Given the description of an element on the screen output the (x, y) to click on. 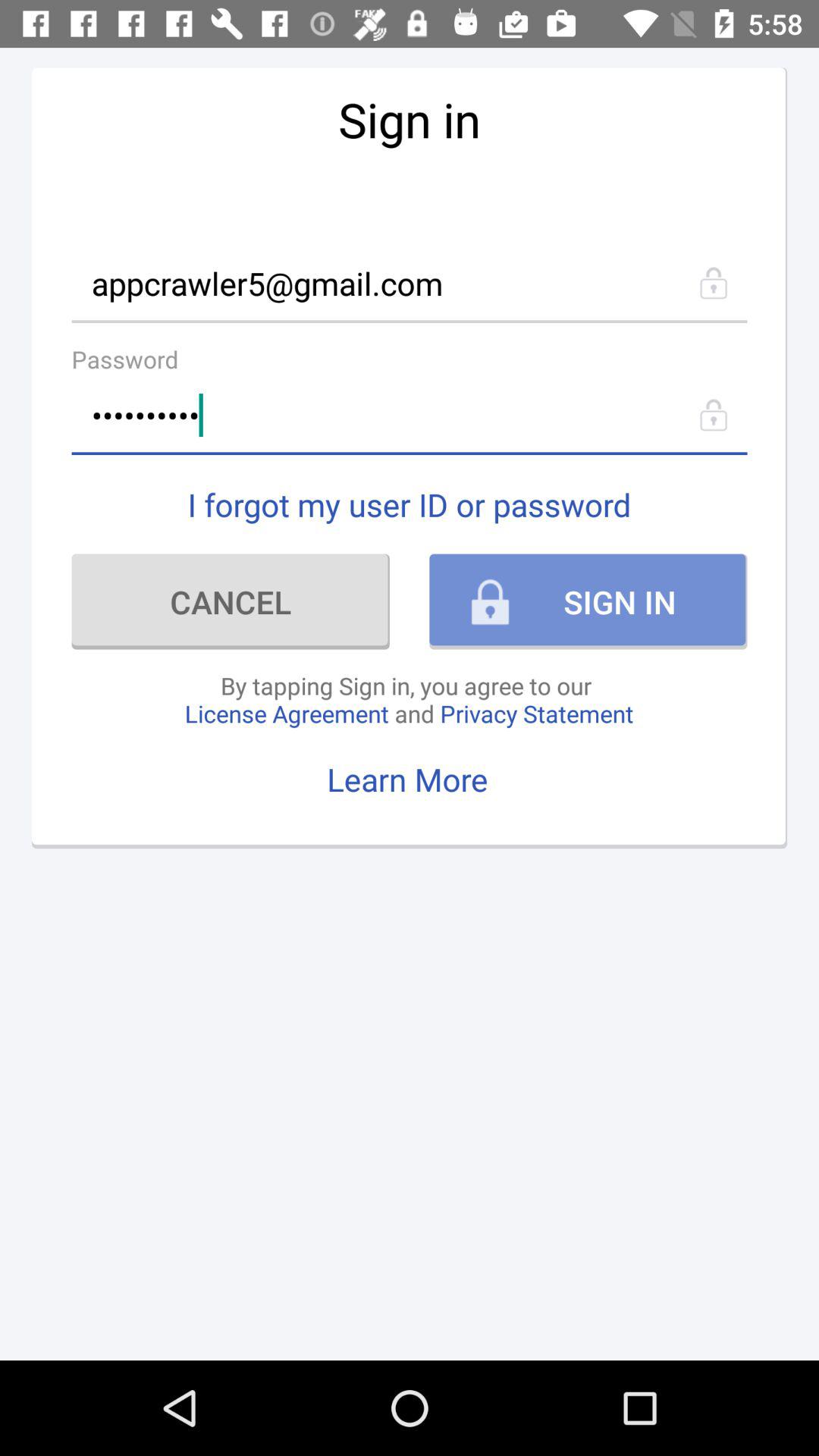
press icon above the password icon (409, 283)
